Given the description of an element on the screen output the (x, y) to click on. 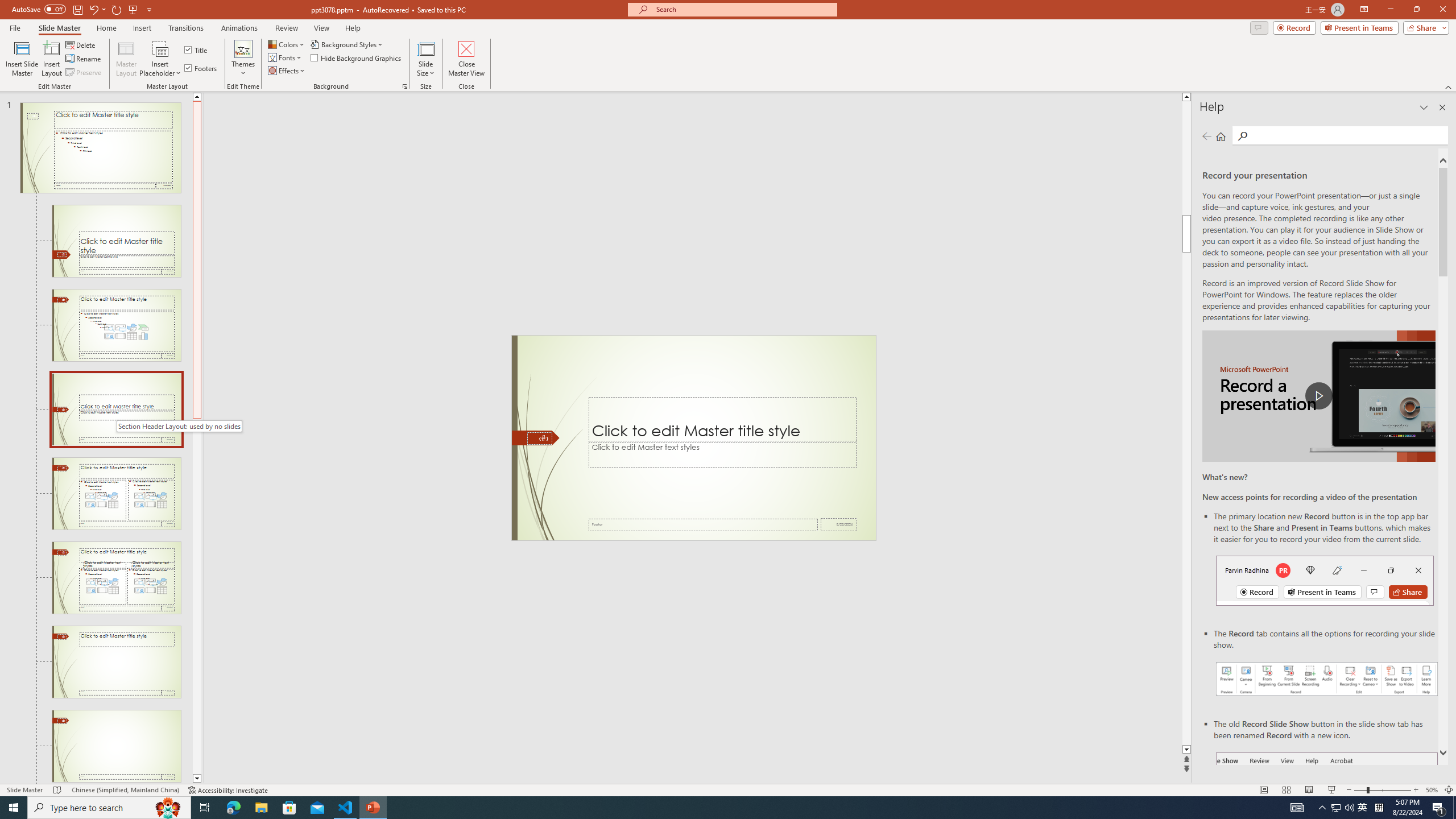
Content (160, 48)
Format Background... (404, 85)
Record your presentations screenshot one (1326, 678)
Rename (84, 58)
Master Layout... (126, 58)
Slide Comparison Layout: used by no slides (116, 577)
Slide Number (539, 438)
